Given the description of an element on the screen output the (x, y) to click on. 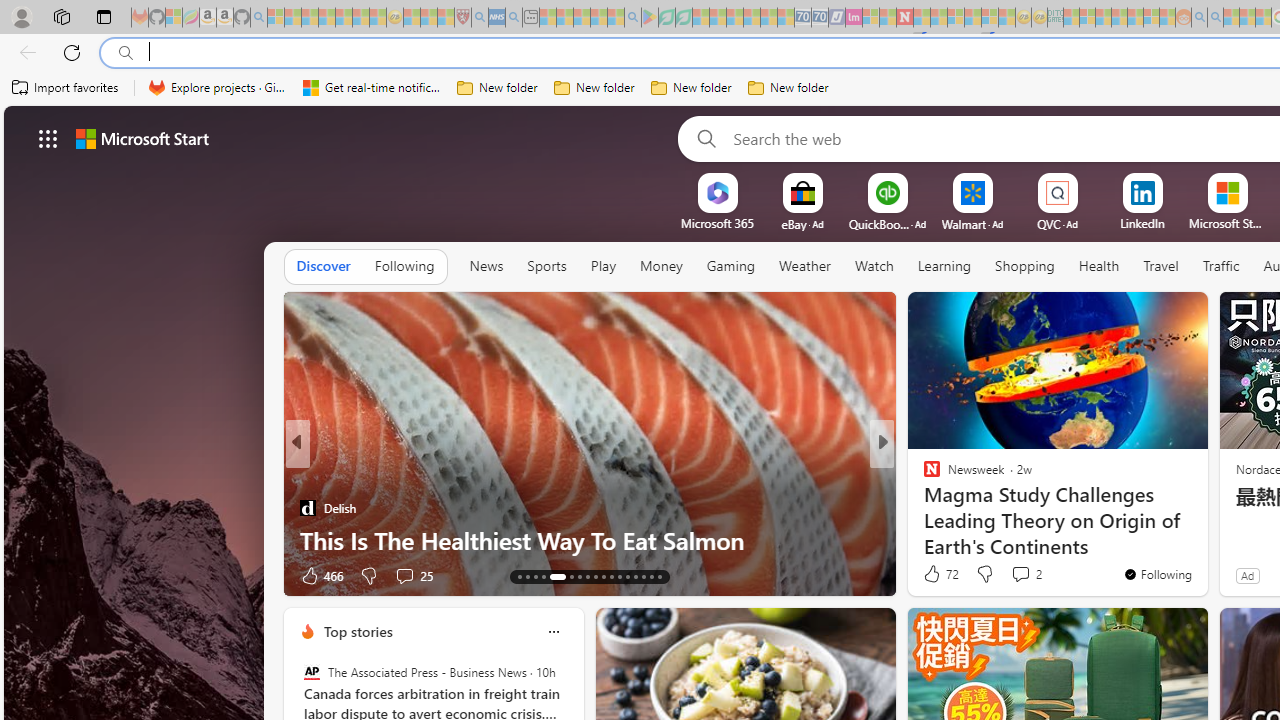
AutomationID: tab-22 (603, 576)
Local - MSN - Sleeping (445, 17)
Gaming (730, 267)
PC Gamer (923, 475)
Robert H. Shmerling, MD - Harvard Health - Sleeping (462, 17)
AutomationID: tab-16 (542, 576)
Class: icon-img (553, 632)
14 Common Myths Debunked By Scientific Facts - Sleeping (938, 17)
AutomationID: tab-28 (650, 576)
Watch (874, 265)
456 Like (936, 574)
3 Like (930, 574)
